Given the description of an element on the screen output the (x, y) to click on. 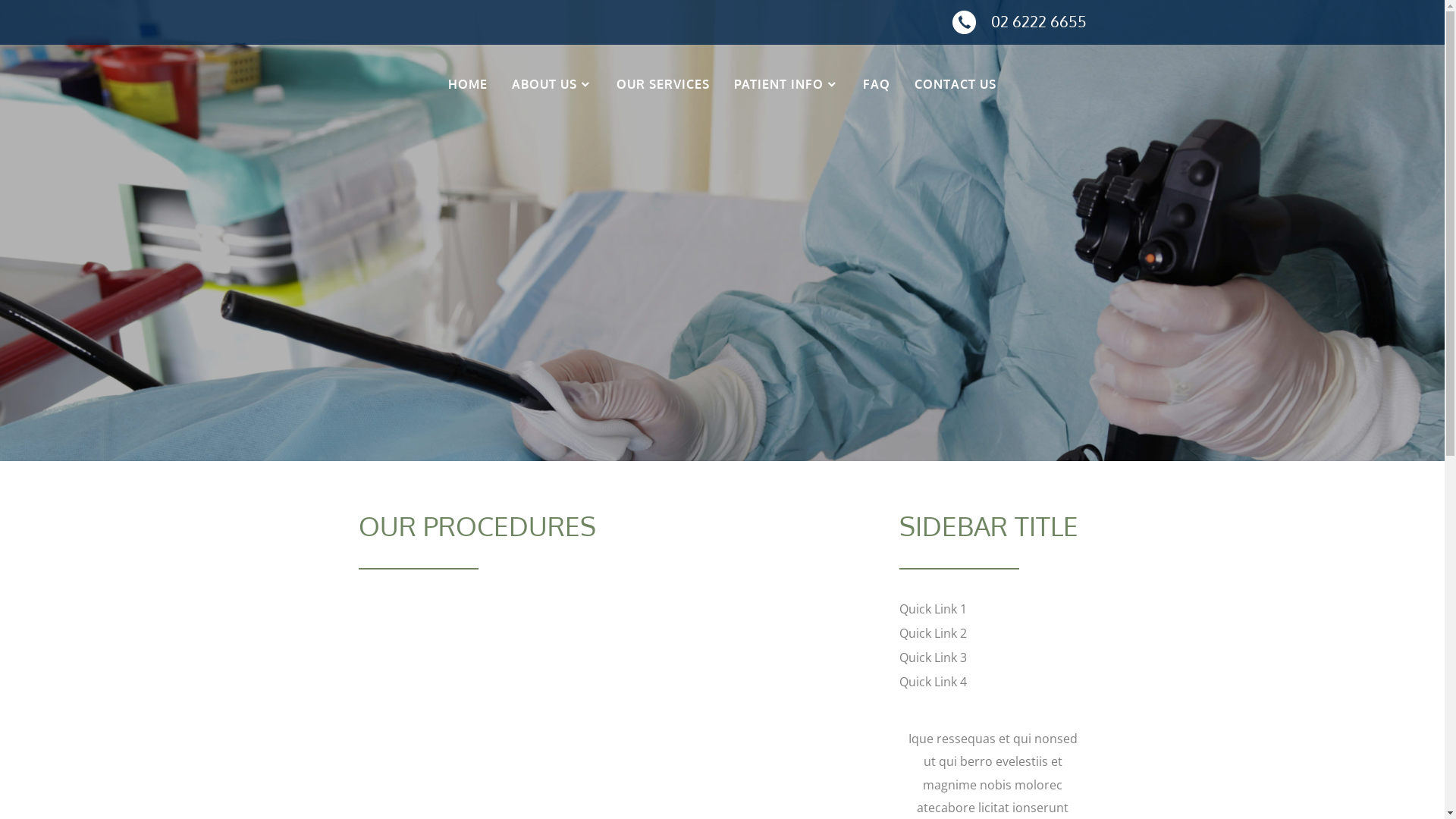
OUR SERVICES Element type: text (662, 84)
Quick Link 1 Element type: text (932, 608)
HOME Element type: text (467, 84)
FAQ Element type: text (876, 84)
CONTACT US Element type: text (955, 84)
PATIENT INFO Element type: text (786, 84)
02 6222 6655 Element type: text (1037, 21)
Quick Link 4 Element type: text (932, 681)
Quick Link 3 Element type: text (932, 657)
Quick Link 2 Element type: text (932, 632)
ABOUT US Element type: text (551, 84)
